Given the description of an element on the screen output the (x, y) to click on. 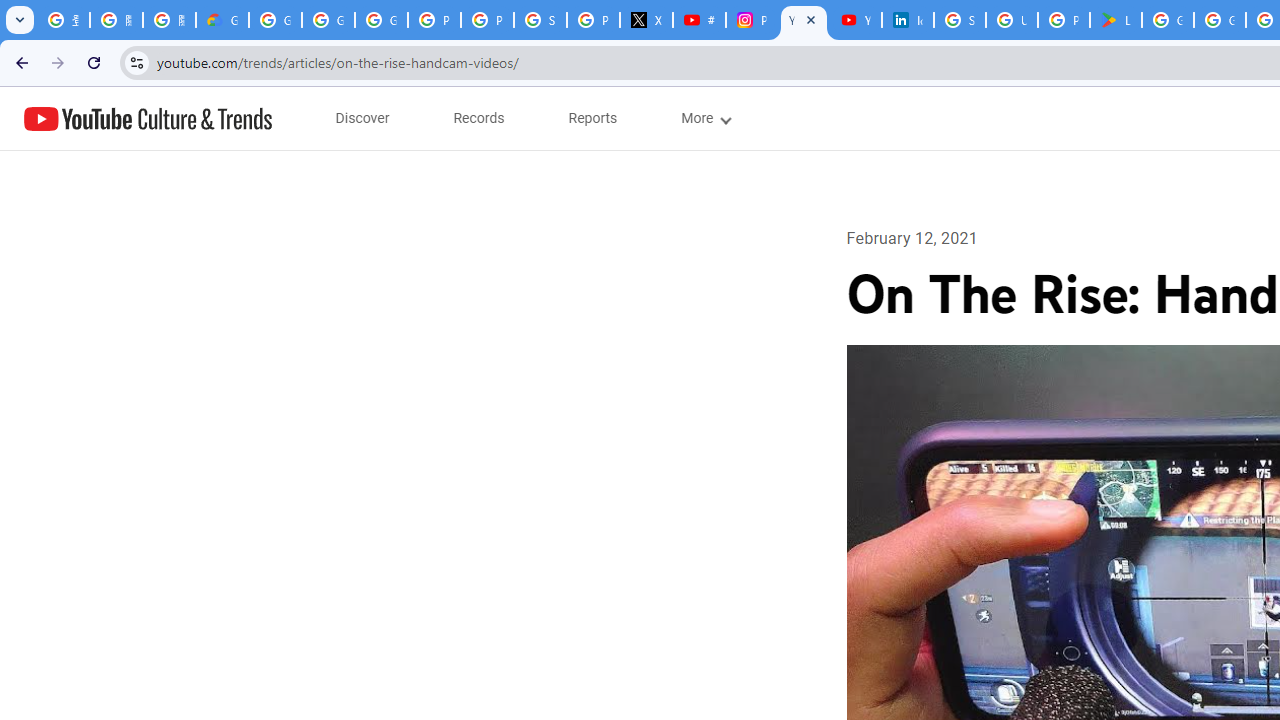
subnav-Discover menupopup (362, 118)
subnav-More menupopup (704, 118)
subnav-Reports menupopup (593, 118)
Google Workspace - Specific Terms (1219, 20)
YouTube Culture & Trends - YouTube Top 10, 2021 (855, 20)
